Given the description of an element on the screen output the (x, y) to click on. 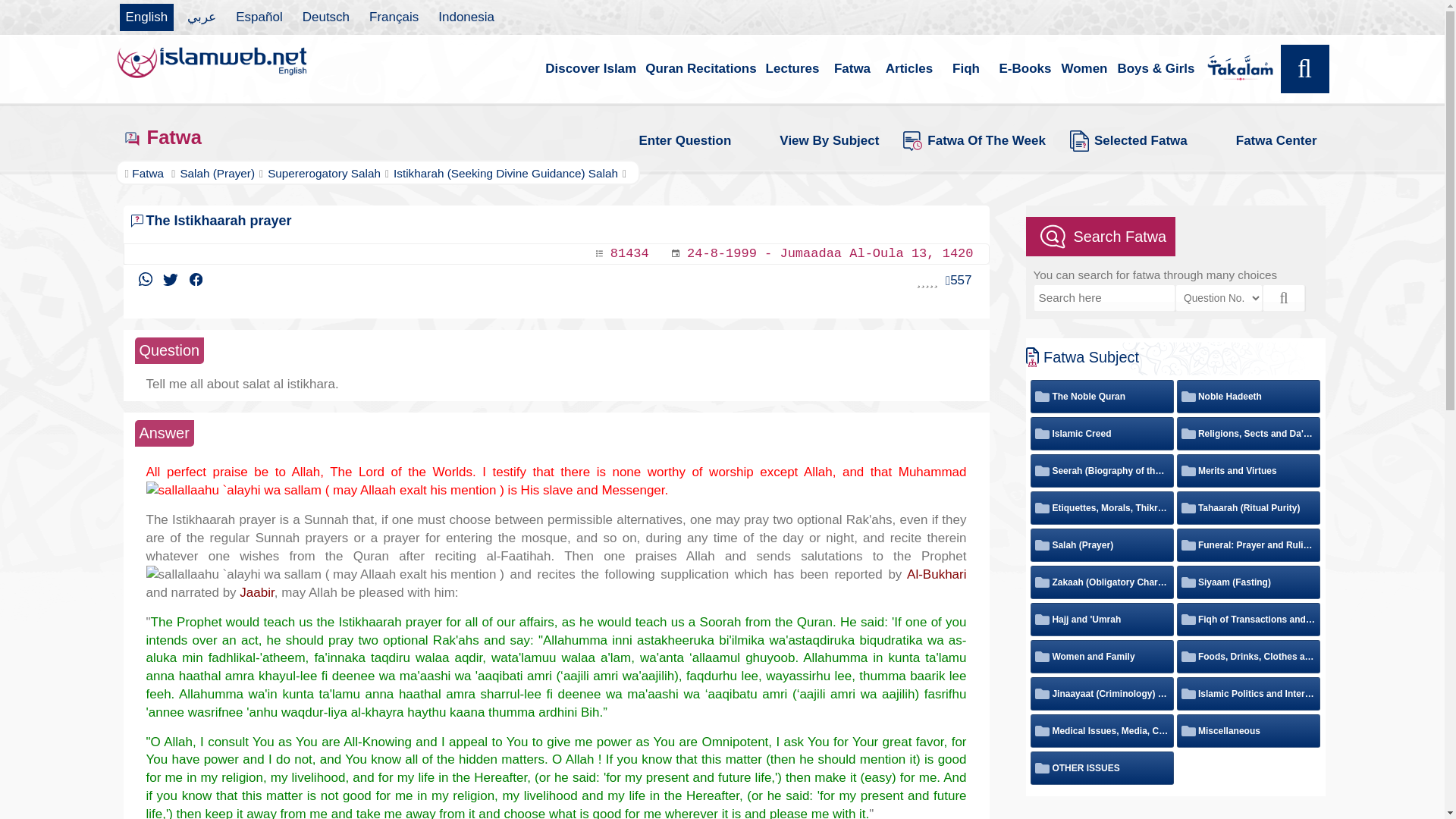
on (1040, 544)
on (1185, 544)
on (1185, 396)
on (1185, 508)
Medical Issues, Media, Culture and Means of Entertainment (1102, 730)
on (1040, 583)
Funeral: Prayer and Rulings  (1248, 545)
on (1040, 396)
on (1185, 433)
on (1040, 693)
E-Books (1024, 69)
Islamic Creed (1072, 433)
Discover Islam (590, 69)
on (1185, 693)
Etiquettes, Morals, Thikr and Du'aa' (1102, 508)
